Given the description of an element on the screen output the (x, y) to click on. 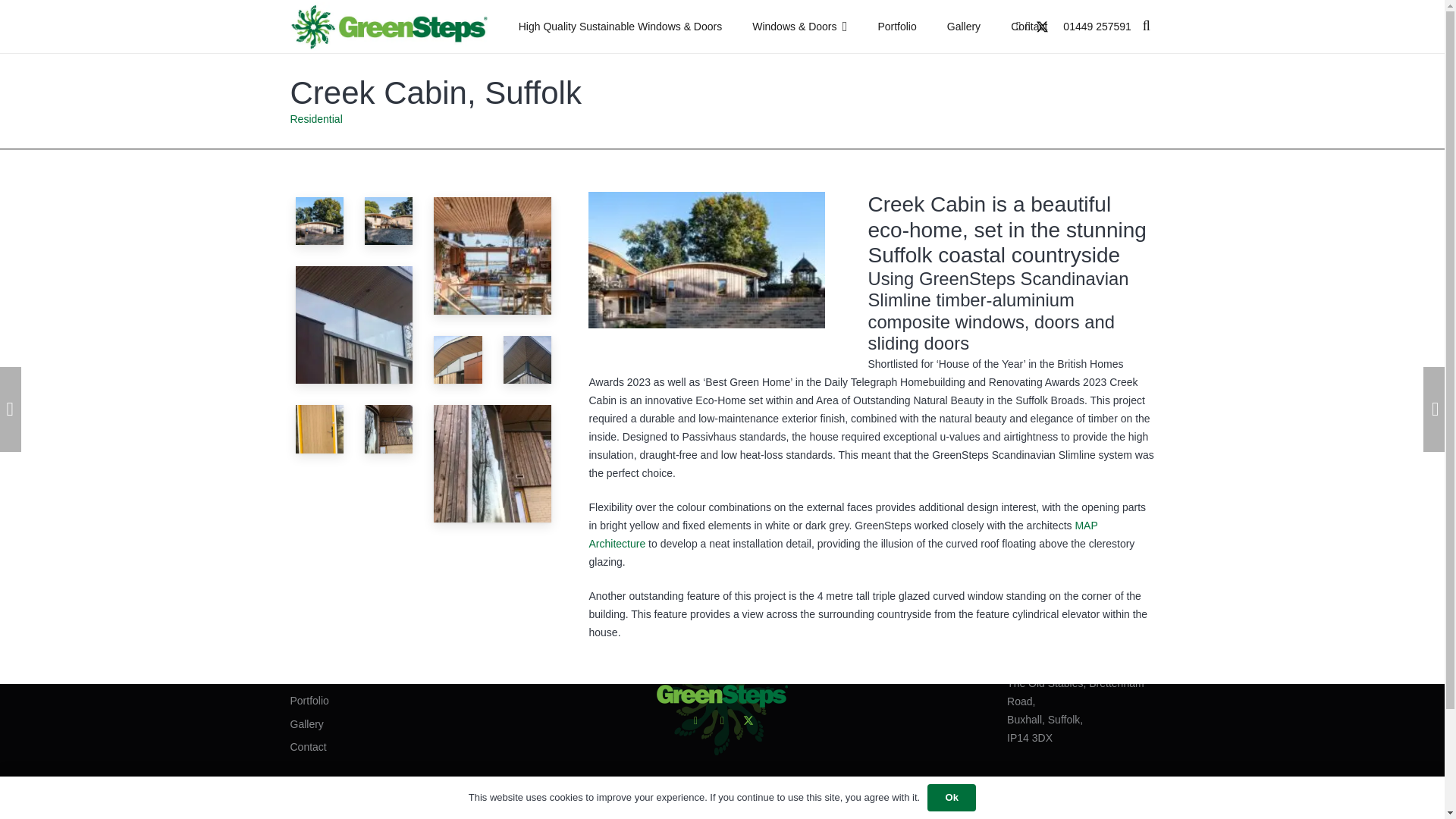
Twitter (748, 720)
Gallery (963, 26)
Creek Cabin 1 (389, 221)
Creek Cabin 7 (457, 359)
Creek Cabin 8 (354, 325)
Residential (315, 119)
Facebook (722, 720)
MAP Architecture (842, 534)
Creek Cabin 5 (492, 255)
01449 257591 (1096, 25)
